Given the description of an element on the screen output the (x, y) to click on. 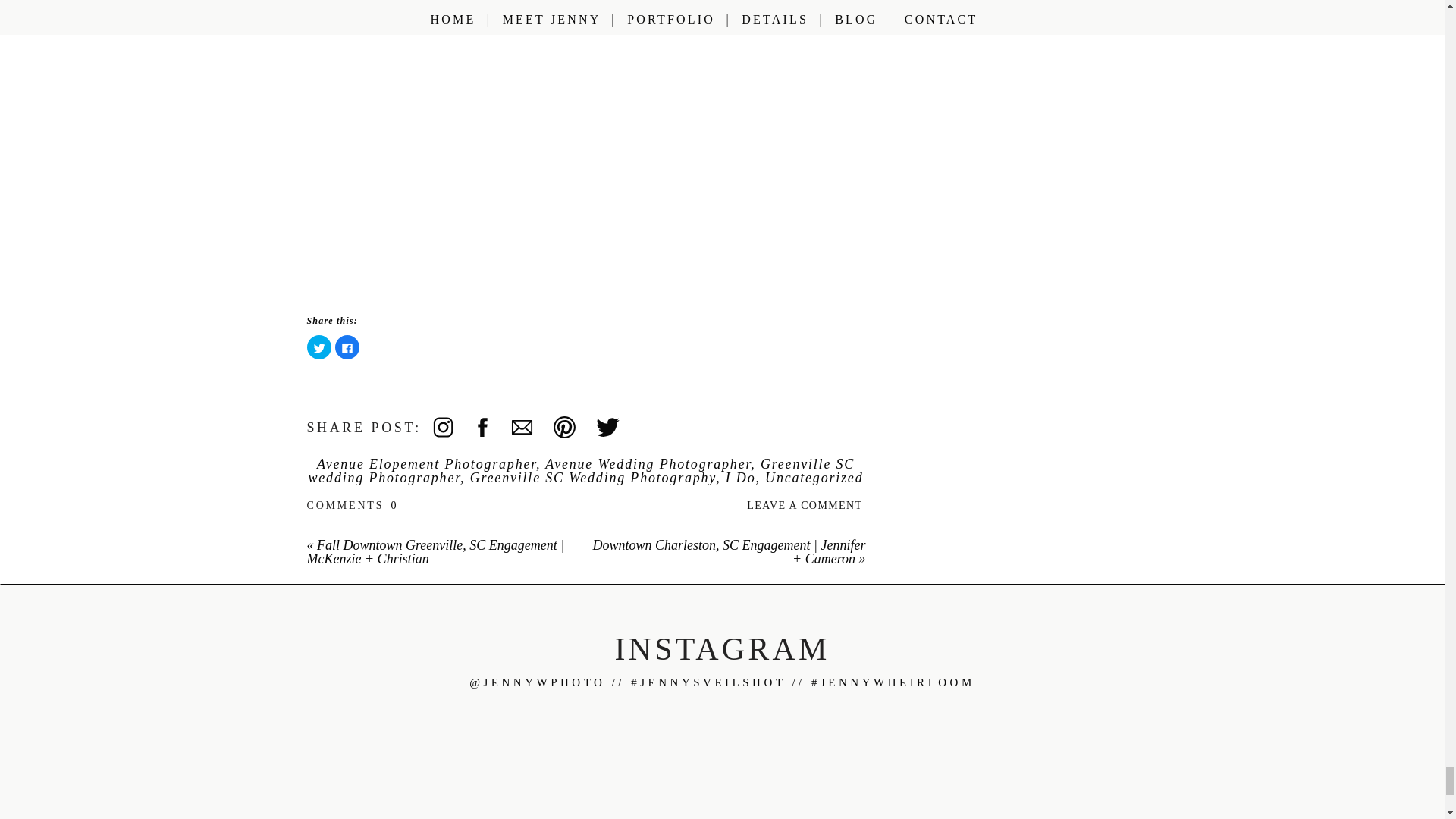
Click to share on Facebook (346, 346)
Avenue Wedding Photographer (647, 463)
Avenue Elopement Photographer (426, 463)
Click to share on Twitter (317, 346)
Greenville SC wedding Photographer (582, 470)
